Given the description of an element on the screen output the (x, y) to click on. 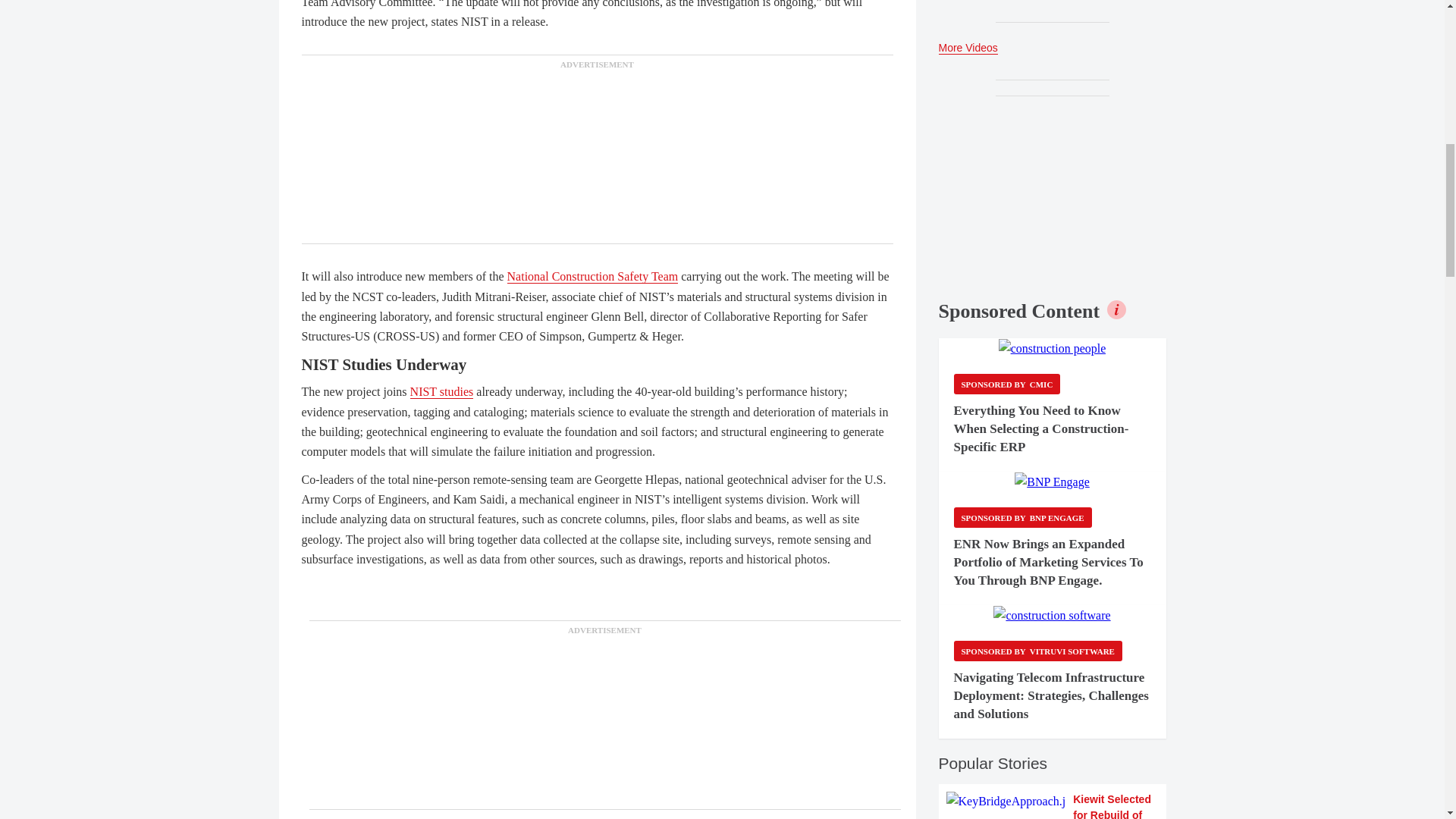
Sponsored by CMiC (1007, 383)
Kiewit Selected for Rebuild of Collapsed Baltimore Bridge (1052, 805)
construction software (1050, 615)
BNP Engage (1051, 482)
Sponsored by Vitruvi Software (1037, 650)
construction people (1052, 348)
Sponsored by BNP Engage (1022, 516)
